Given the description of an element on the screen output the (x, y) to click on. 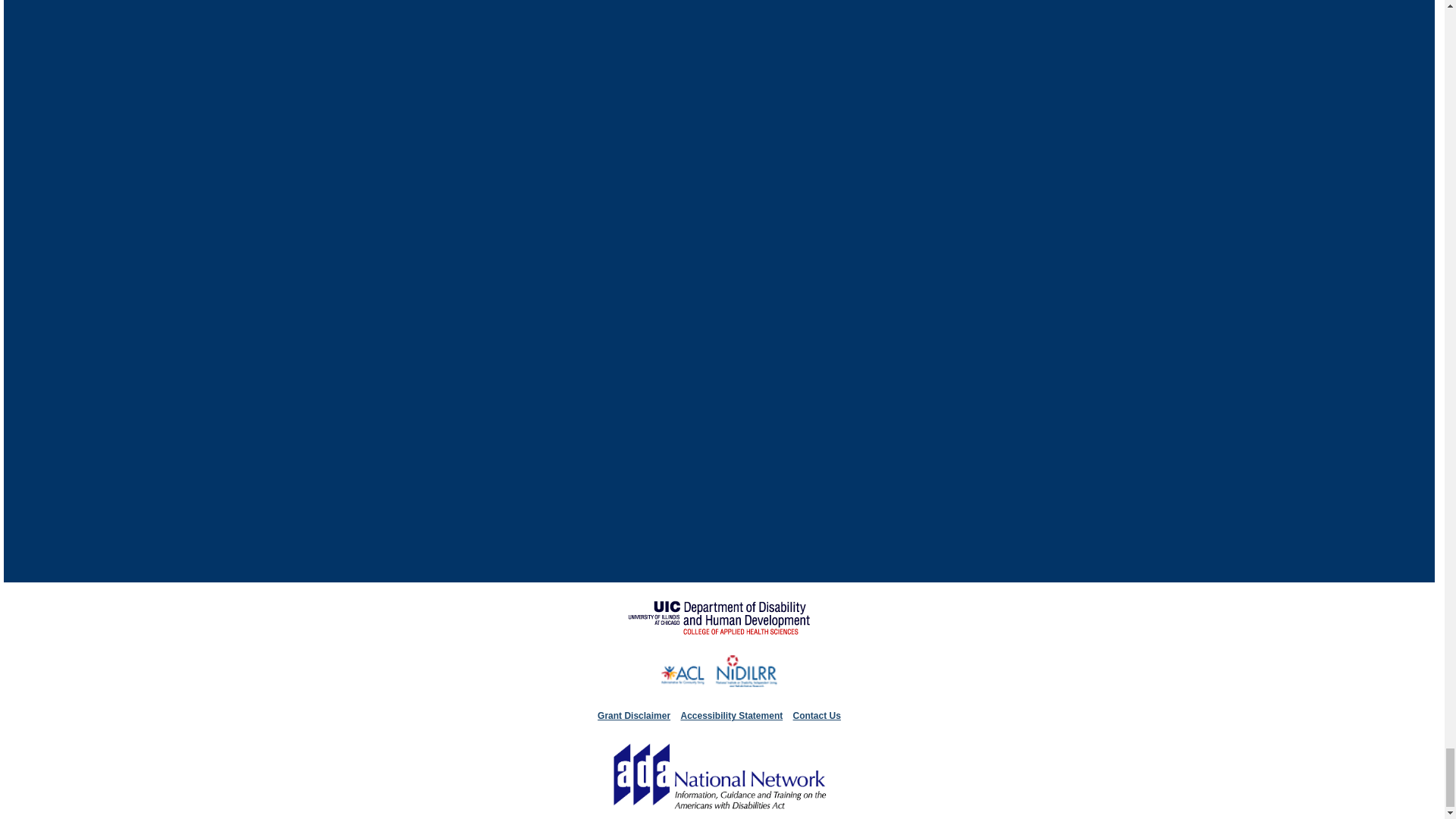
Contact Us (817, 715)
Grant Disclaimer (632, 715)
Go To ADA National Network (719, 811)
Accessibility Statement (731, 715)
